Given the description of an element on the screen output the (x, y) to click on. 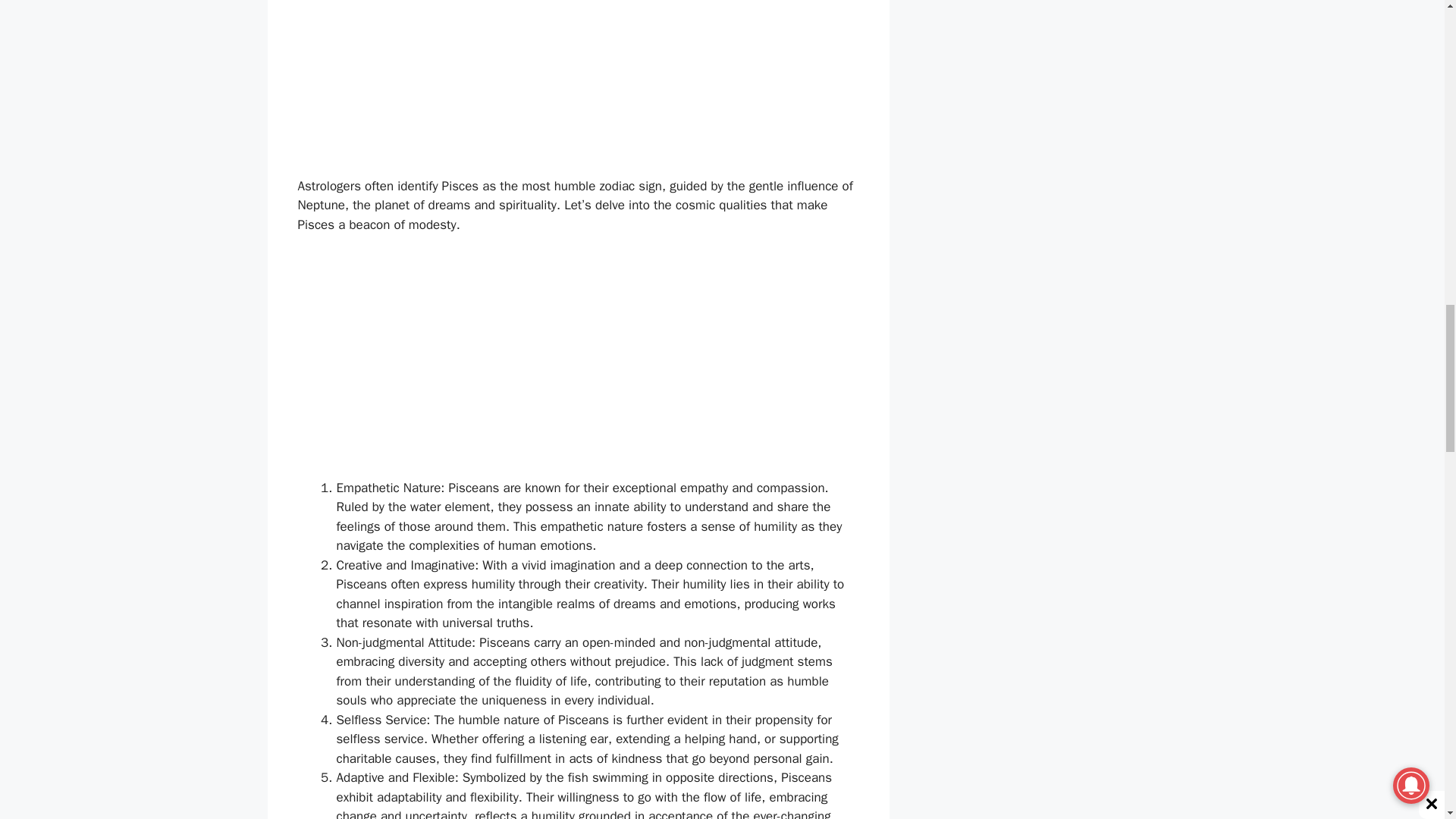
Advertisement (578, 80)
Advertisement (578, 366)
